Given the description of an element on the screen output the (x, y) to click on. 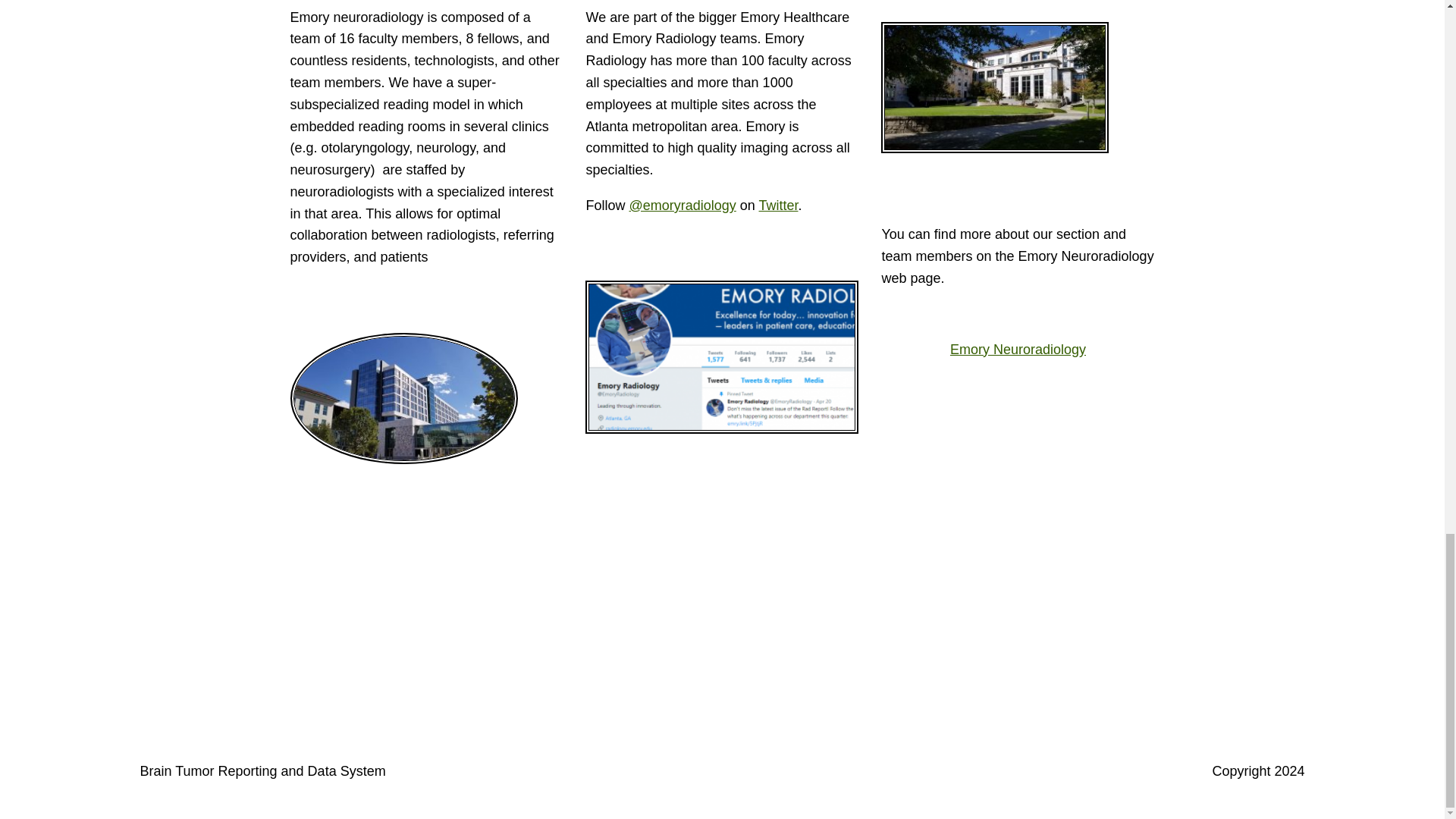
Brain Tumor Reporting and Data System (262, 770)
Twitter (777, 205)
Emory Neuroradiology (1018, 349)
